Given the description of an element on the screen output the (x, y) to click on. 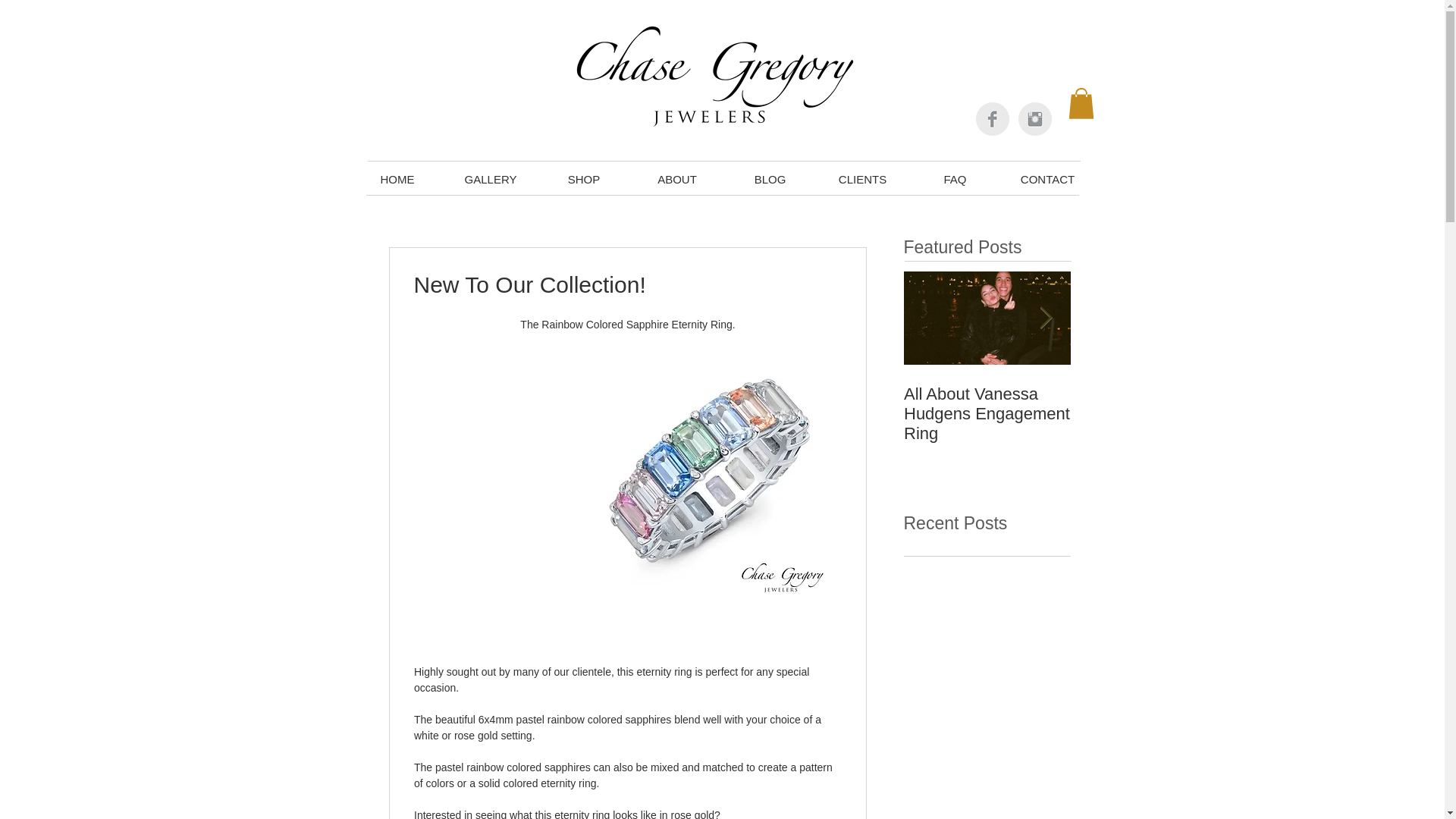
HOME (397, 179)
CLIENTS (861, 179)
CONTACT (1047, 179)
FAQ (954, 179)
GALLERY (490, 179)
All About Vanessa Hudgens Engagement Ring (987, 413)
ABOUT (676, 179)
The Chase Gregory Guide to Diamond Studs (1153, 413)
SHOP (583, 179)
BLOG (769, 179)
